Given the description of an element on the screen output the (x, y) to click on. 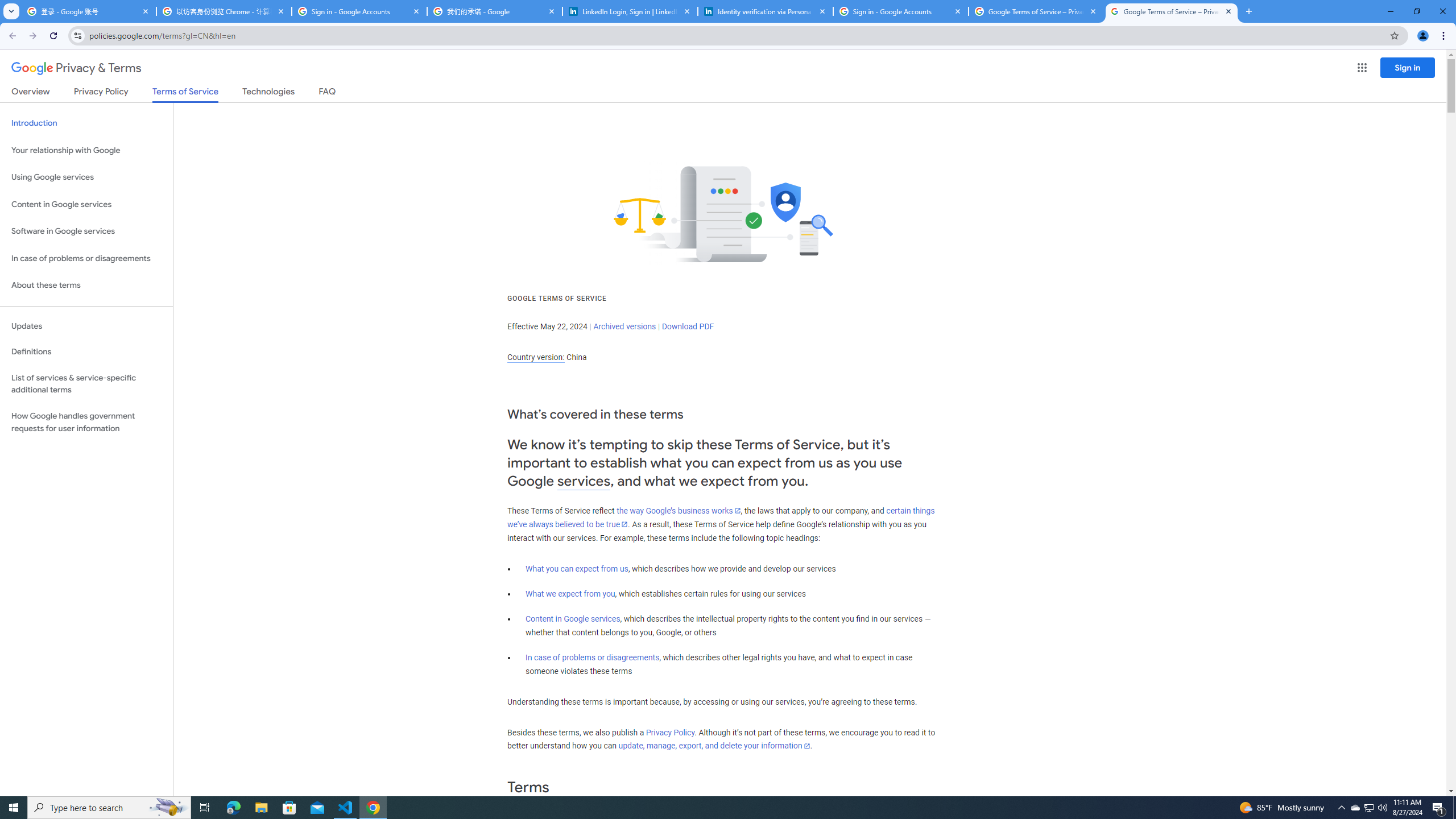
Download PDF (687, 326)
Archived versions (624, 326)
Country version: (535, 357)
Identity verification via Persona | LinkedIn Help (765, 11)
How Google handles government requests for user information (86, 422)
